Given the description of an element on the screen output the (x, y) to click on. 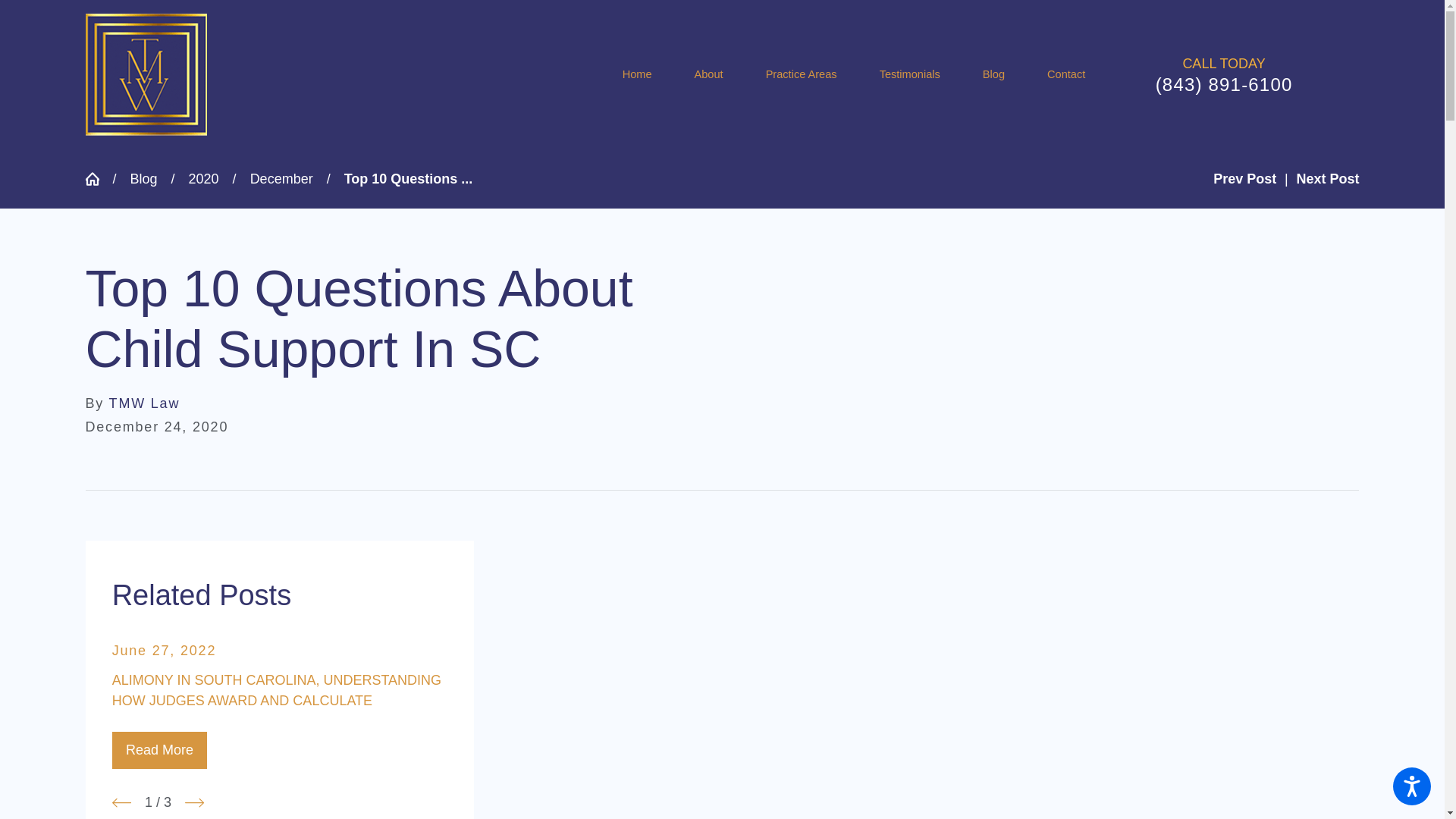
Testimonials (909, 74)
Go Home (98, 178)
View previous item (121, 802)
Practice Areas (801, 74)
Home (647, 74)
TMW Law (145, 74)
About (708, 74)
View next item (193, 802)
Blog (993, 74)
Open the accessibility options menu (1412, 786)
